Given the description of an element on the screen output the (x, y) to click on. 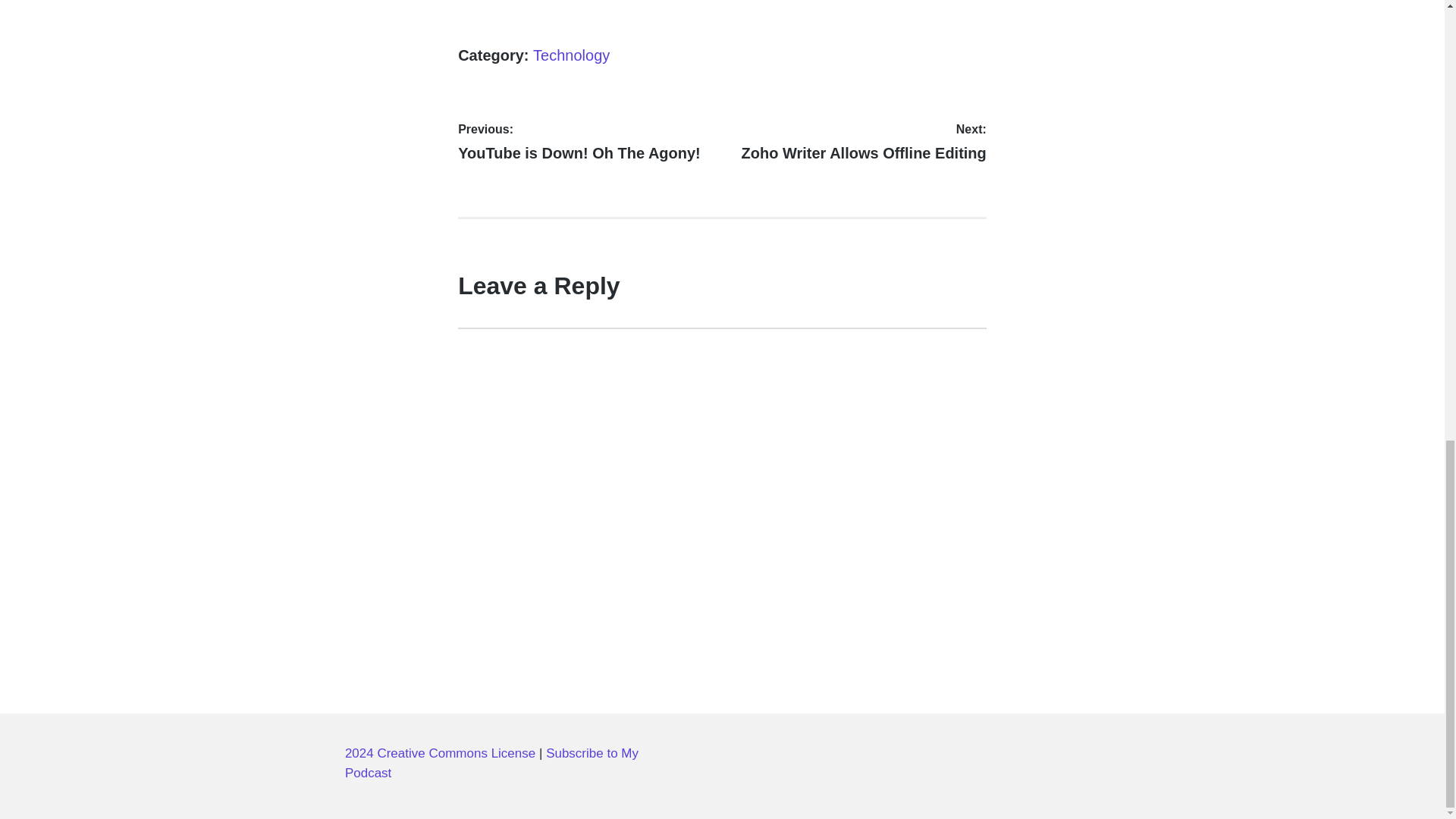
2024 Creative Commons License (440, 754)
Technology (587, 142)
Subscribe to My Podcast (571, 54)
Comment Form (855, 142)
